Given the description of an element on the screen output the (x, y) to click on. 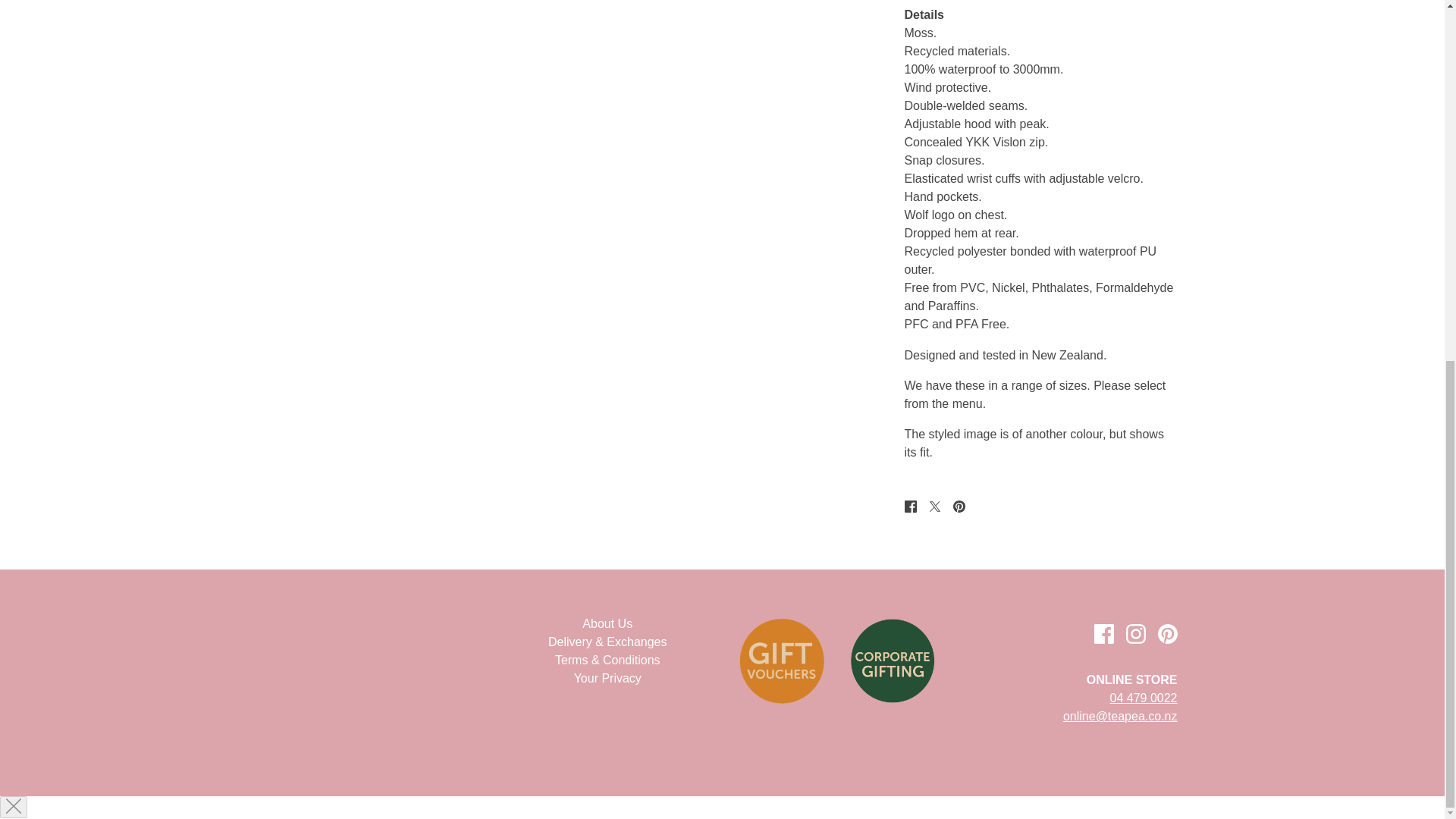
Your Privacy (607, 677)
About Us (606, 623)
Corporate Gifting (892, 660)
Gift Cards (781, 660)
Phone now (1143, 697)
